Given the description of an element on the screen output the (x, y) to click on. 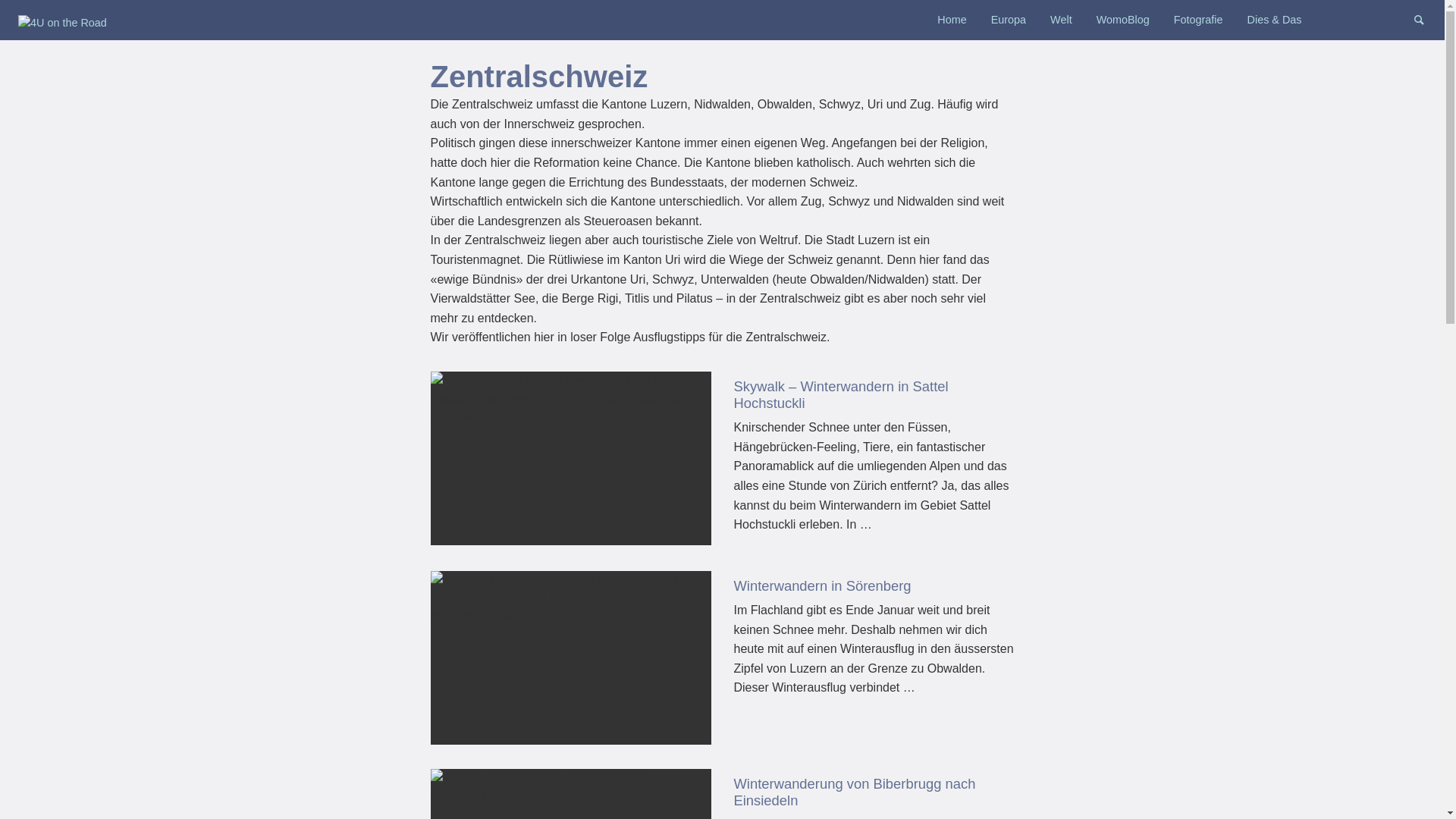
Facebook Element type: text (1353, 18)
Welt Element type: text (1061, 20)
Fotografie Element type: text (1198, 20)
WomoBlog Element type: text (1122, 20)
Europa Element type: text (1008, 20)
Instagram Element type: text (1402, 18)
Home Element type: text (951, 20)
Search Element type: text (1426, 18)
Dies & Das Element type: text (1274, 20)
Pinterest Element type: text (1377, 18)
